Given the description of an element on the screen output the (x, y) to click on. 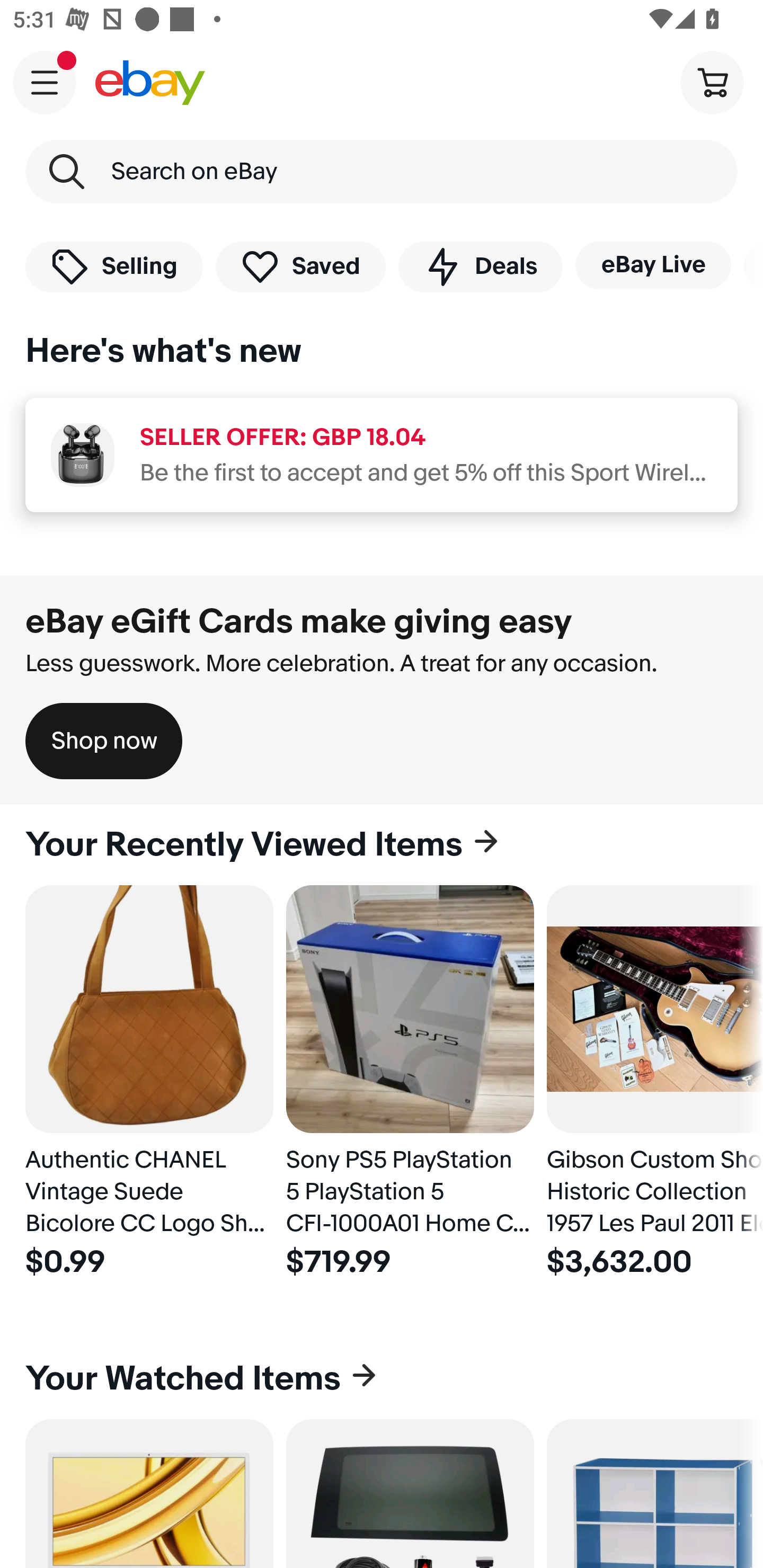
Main navigation, notification is pending, open (44, 82)
Cart button shopping cart (711, 81)
Search on eBay Search Keyword Search on eBay (381, 171)
Selling (113, 266)
Saved (300, 266)
Deals (480, 266)
eBay Live (652, 264)
eBay eGift Cards make giving easy (298, 621)
Shop now (103, 740)
Your Recently Viewed Items   (381, 844)
Your Watched Items   (381, 1379)
